Given the description of an element on the screen output the (x, y) to click on. 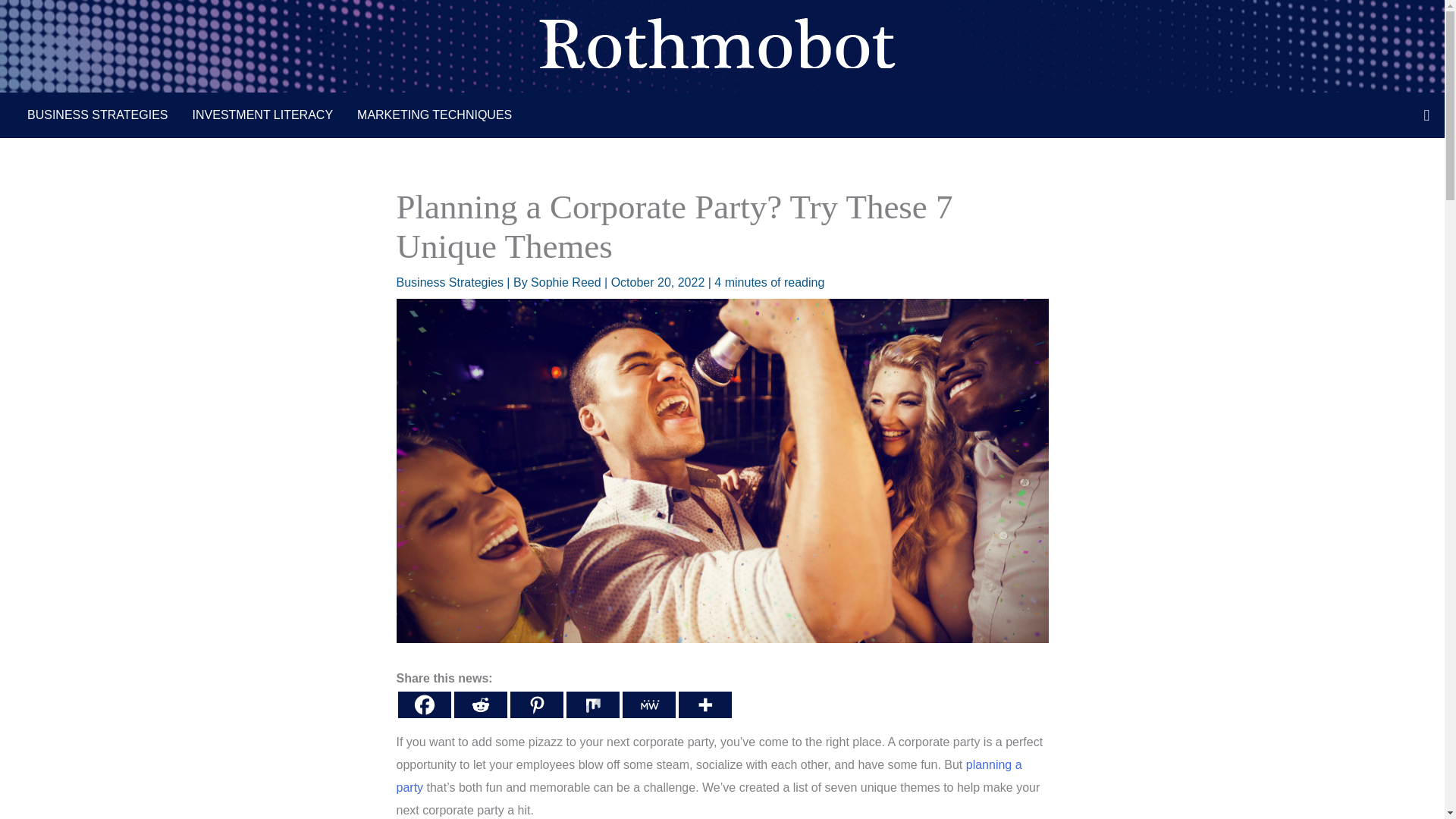
MARKETING TECHNIQUES (434, 115)
More (704, 704)
Business Strategies (449, 282)
Sophie Reed (567, 282)
Pinterest (535, 704)
MeWe (648, 704)
Reddit (479, 704)
Mix (592, 704)
Facebook (423, 704)
planning a party (709, 775)
